Given the description of an element on the screen output the (x, y) to click on. 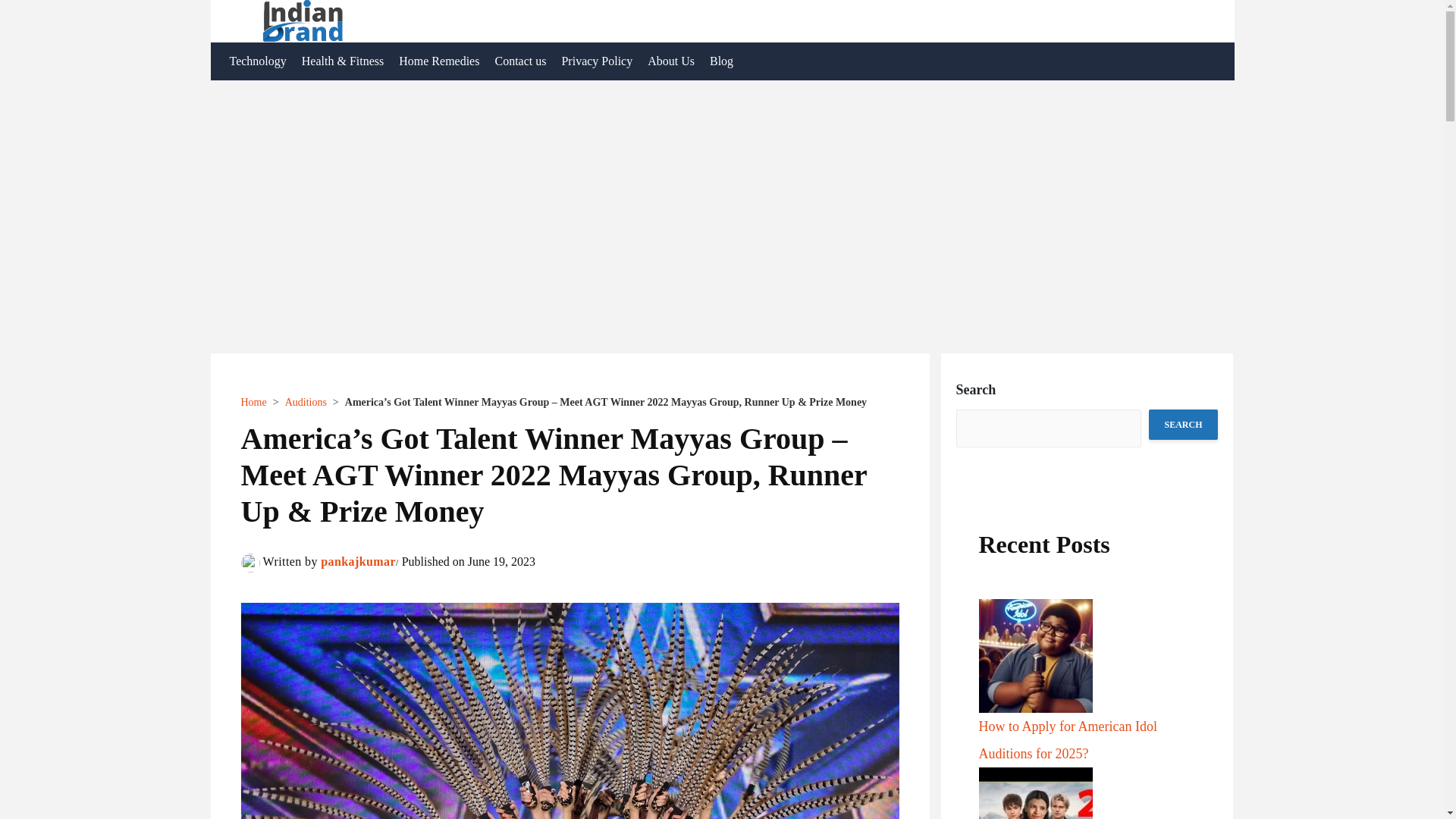
Posts by pankajkumar (358, 561)
Privacy Policy (596, 61)
Auditions (305, 401)
SEARCH (1182, 424)
About Us (670, 61)
Blog (721, 61)
Contact us (519, 61)
Technology (257, 61)
Home Remedies (438, 61)
pankajkumar (358, 561)
Home (253, 401)
Home (253, 401)
